Given the description of an element on the screen output the (x, y) to click on. 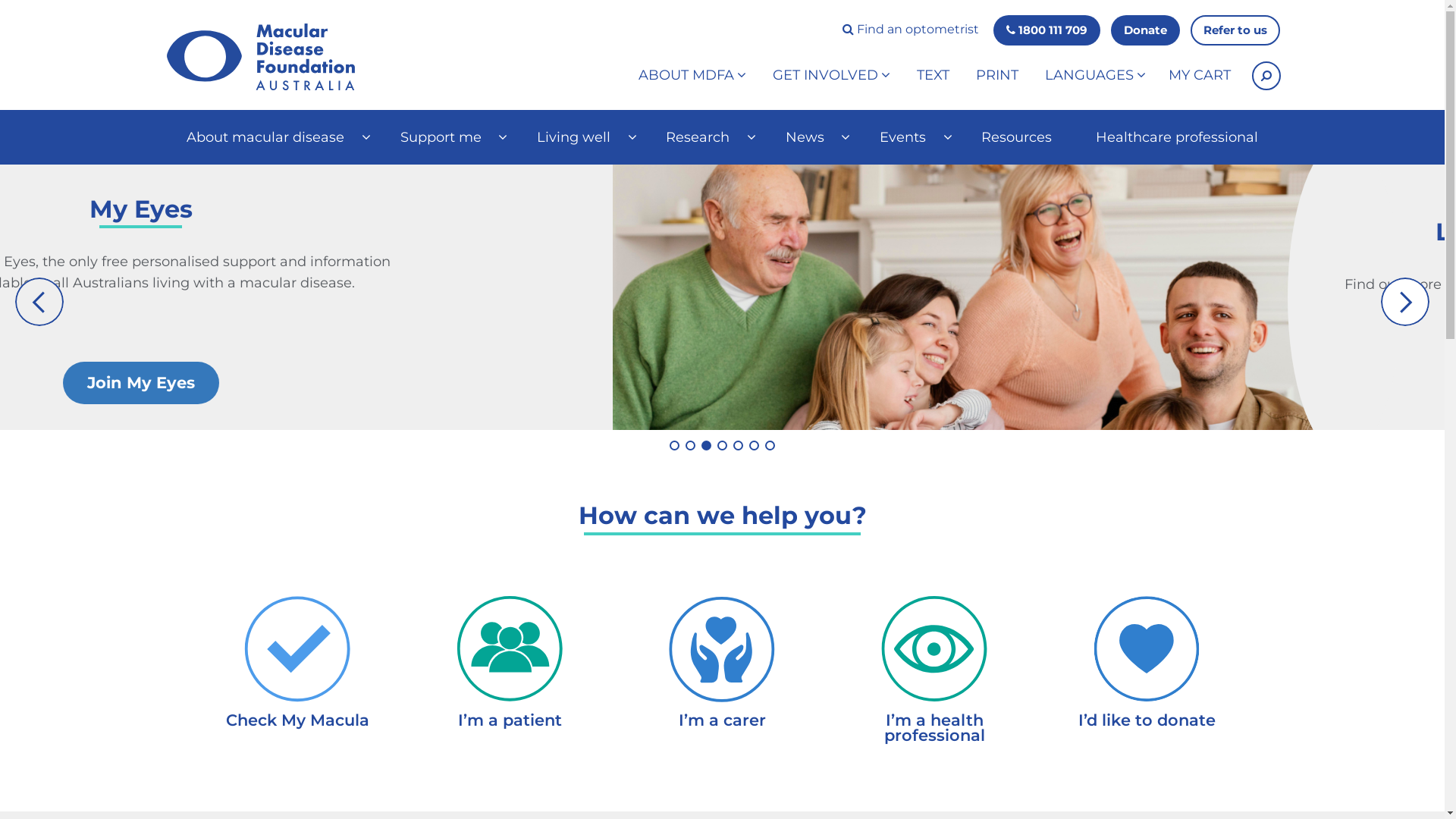
TEXT Element type: text (932, 75)
Healthcare professional Element type: text (1176, 136)
About macular disease Element type: text (271, 136)
PRINT Element type: text (996, 75)
Find an optometrist Element type: text (910, 29)
GET INVOLVED Element type: text (831, 75)
Refer to us Element type: text (1235, 30)
LANGUAGES Element type: text (1094, 75)
1800 111 709 Element type: text (1046, 30)
Events Element type: text (908, 136)
Resources Element type: text (1016, 136)
MY CART Element type: text (1199, 75)
Living well Element type: text (578, 136)
Support me Element type: text (446, 136)
ABOUT MDFA Element type: text (691, 75)
News Element type: text (810, 136)
Donate Element type: text (1144, 30)
Check My Macula Element type: text (297, 683)
Join My Eyes Element type: text (972, 382)
Research Element type: text (703, 136)
